Given the description of an element on the screen output the (x, y) to click on. 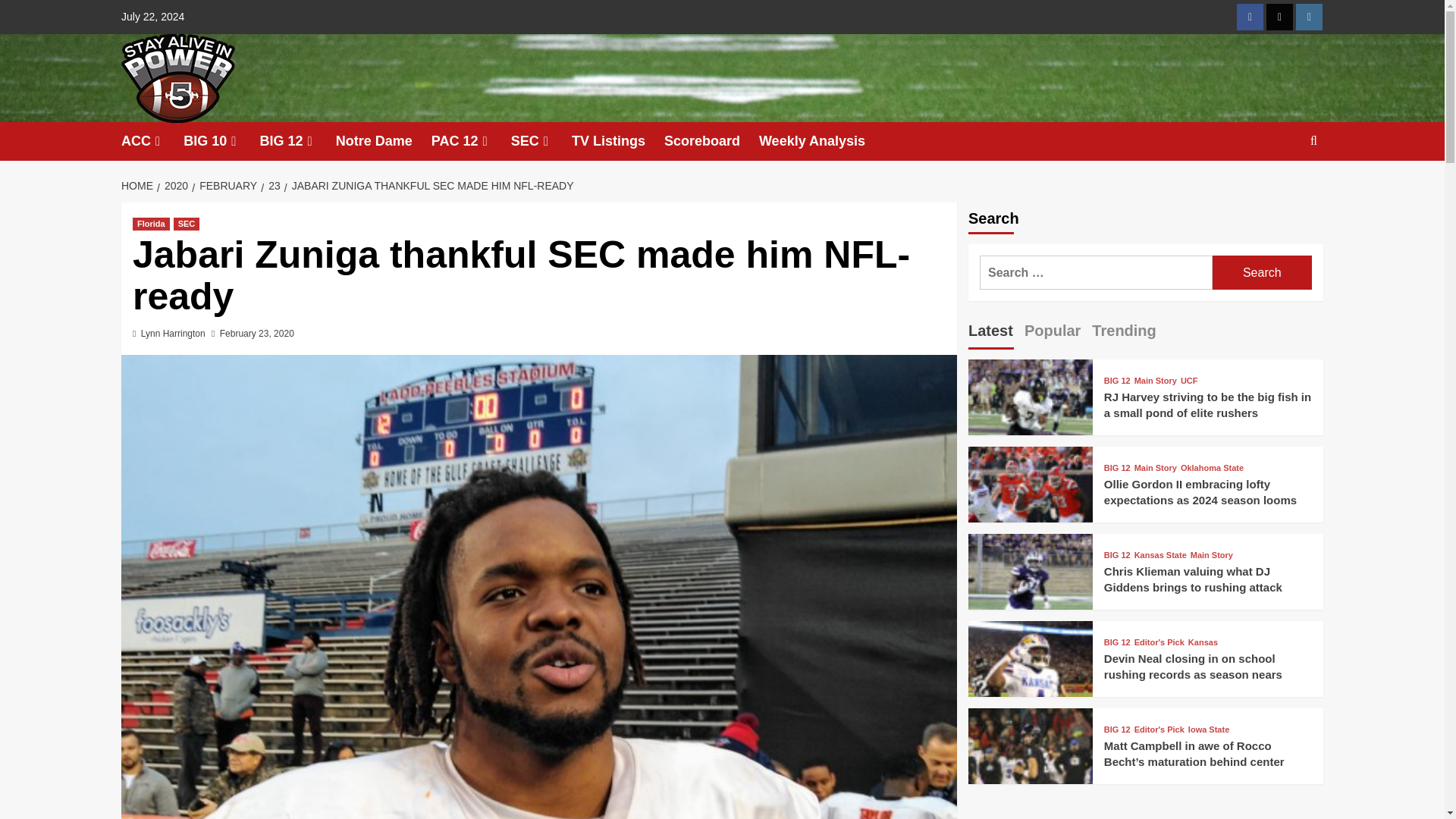
Facebook (1249, 17)
Search (1261, 272)
Search (1261, 272)
ACC (151, 141)
Twitter (1279, 17)
Instagram (1308, 17)
BIG 10 (221, 141)
